Given the description of an element on the screen output the (x, y) to click on. 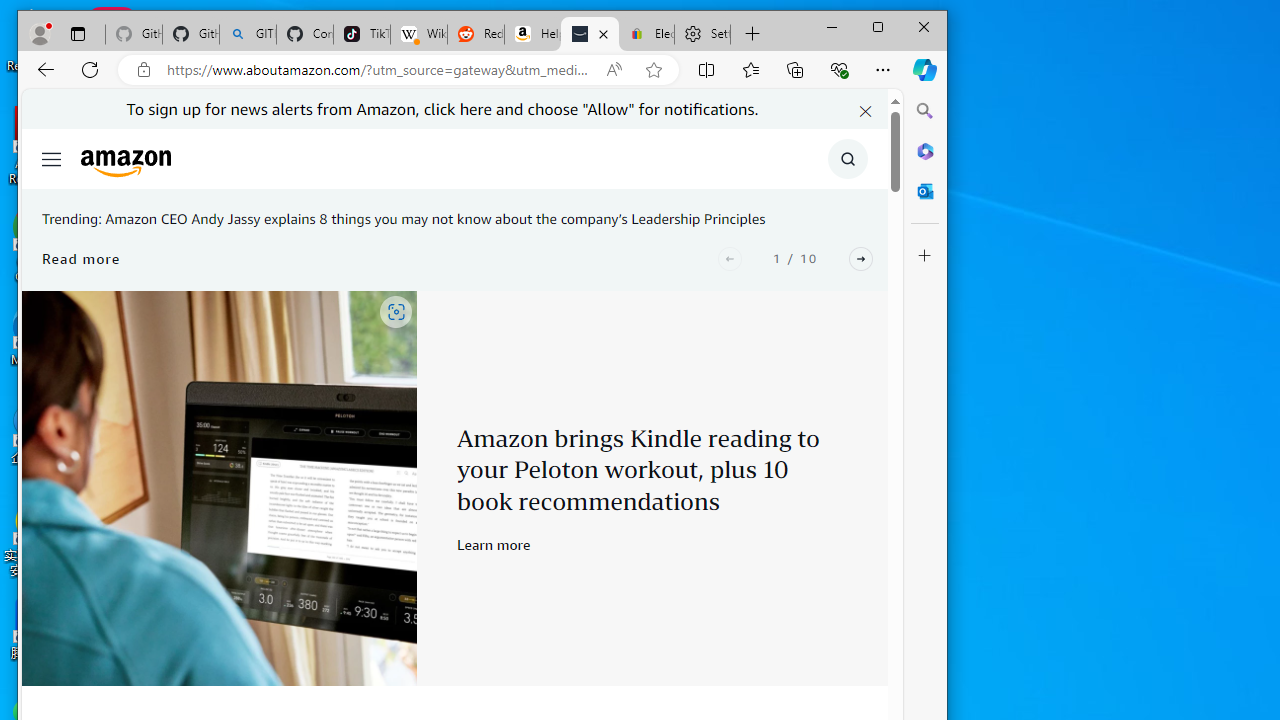
Peloton x Kindle (219, 488)
Next (860, 258)
Maximize (878, 26)
TikTok (362, 34)
Wikipedia, the free encyclopedia (418, 34)
Peloton x Kindle (219, 488)
